Given the description of an element on the screen output the (x, y) to click on. 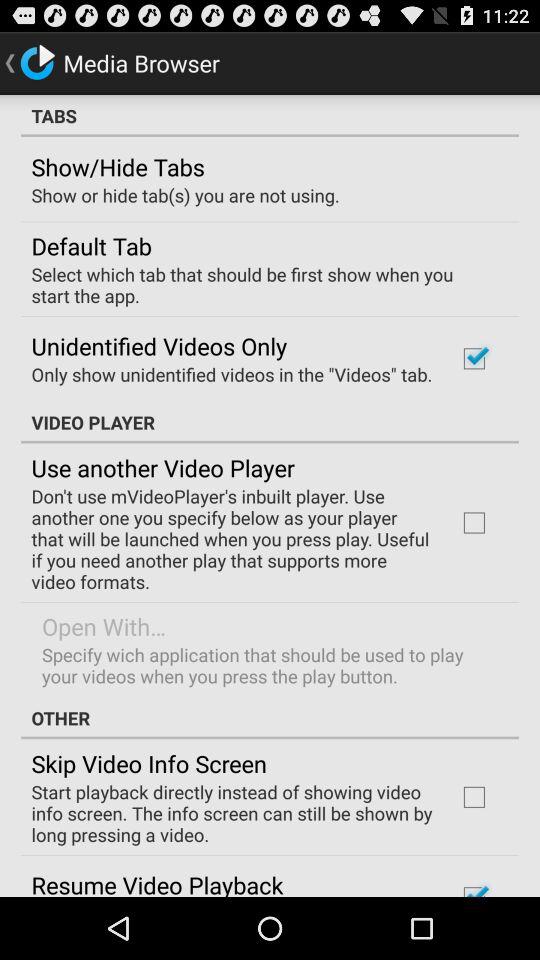
tap app below the show or hide (91, 245)
